Given the description of an element on the screen output the (x, y) to click on. 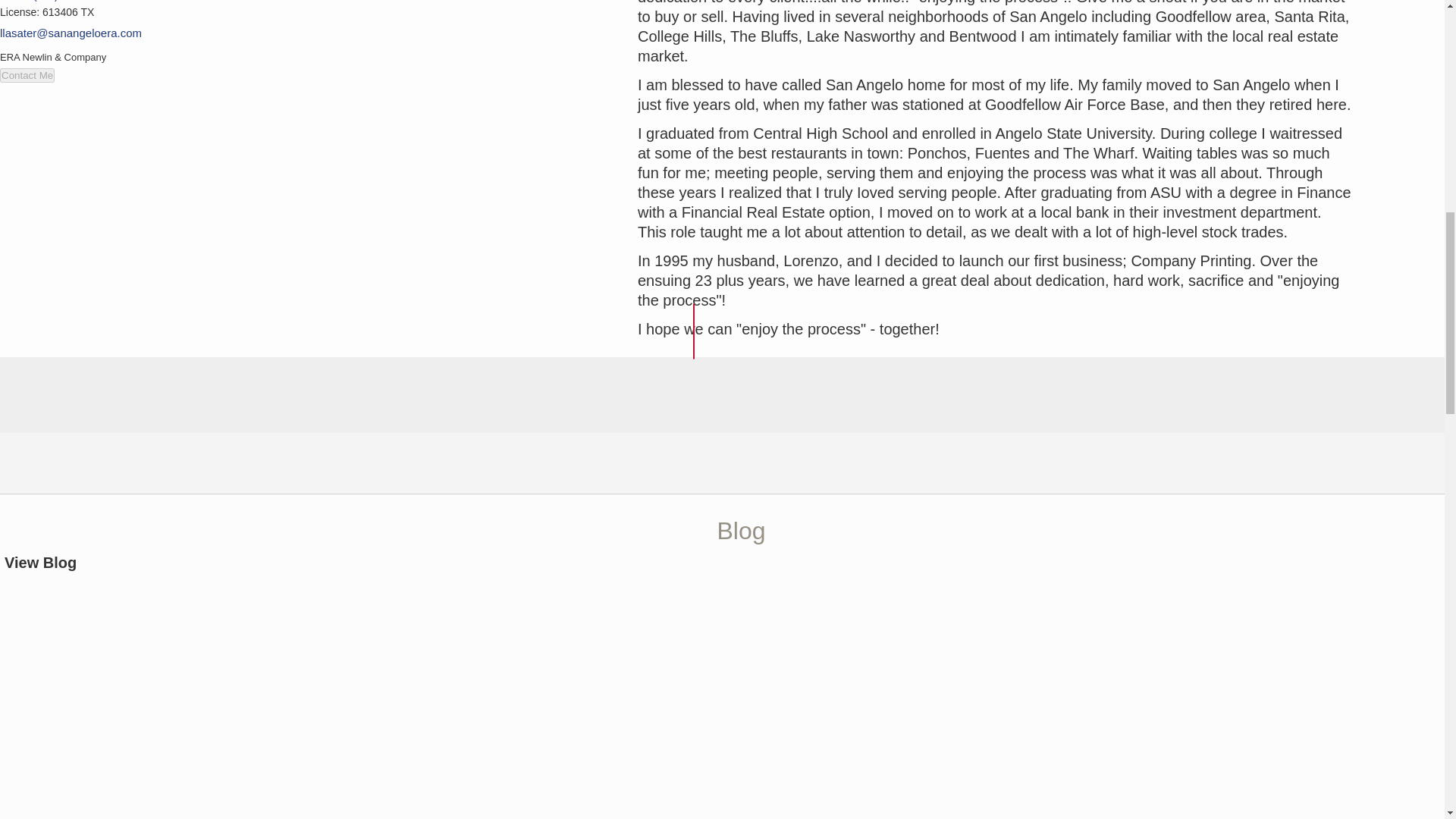
Follow Me on Facebook (7, 814)
Contact Me (27, 74)
